Given the description of an element on the screen output the (x, y) to click on. 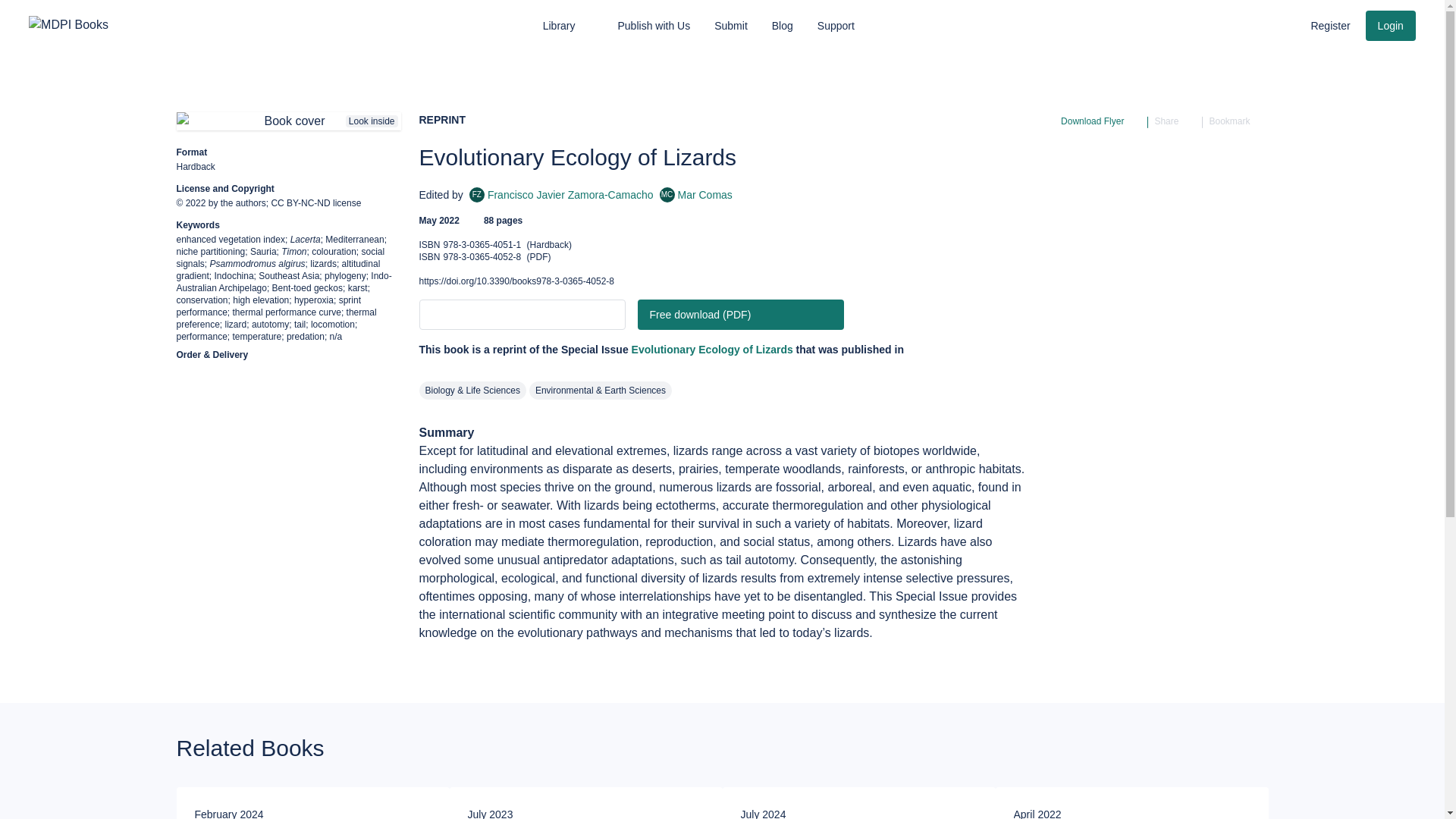
Publish with Us (695, 194)
Go to cart (653, 25)
Bookmark (1280, 24)
Library (1238, 121)
Register (568, 25)
Look inside (1329, 25)
Search (288, 121)
Login (1249, 24)
